Given the description of an element on the screen output the (x, y) to click on. 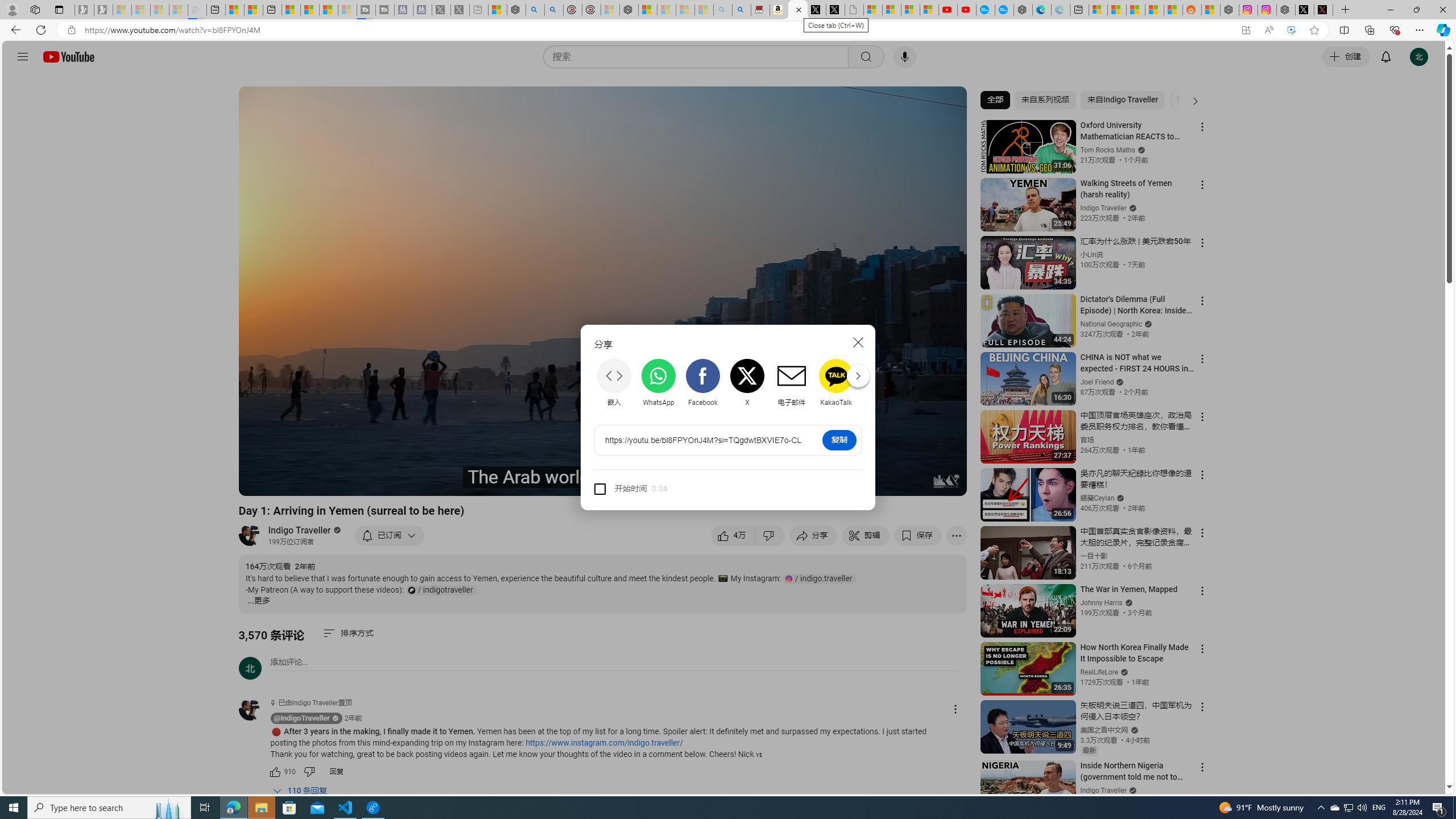
AutomationID: share-url (703, 439)
Indigo Traveller (299, 530)
Shanghai, China hourly forecast | Microsoft Weather (1135, 9)
